Given the description of an element on the screen output the (x, y) to click on. 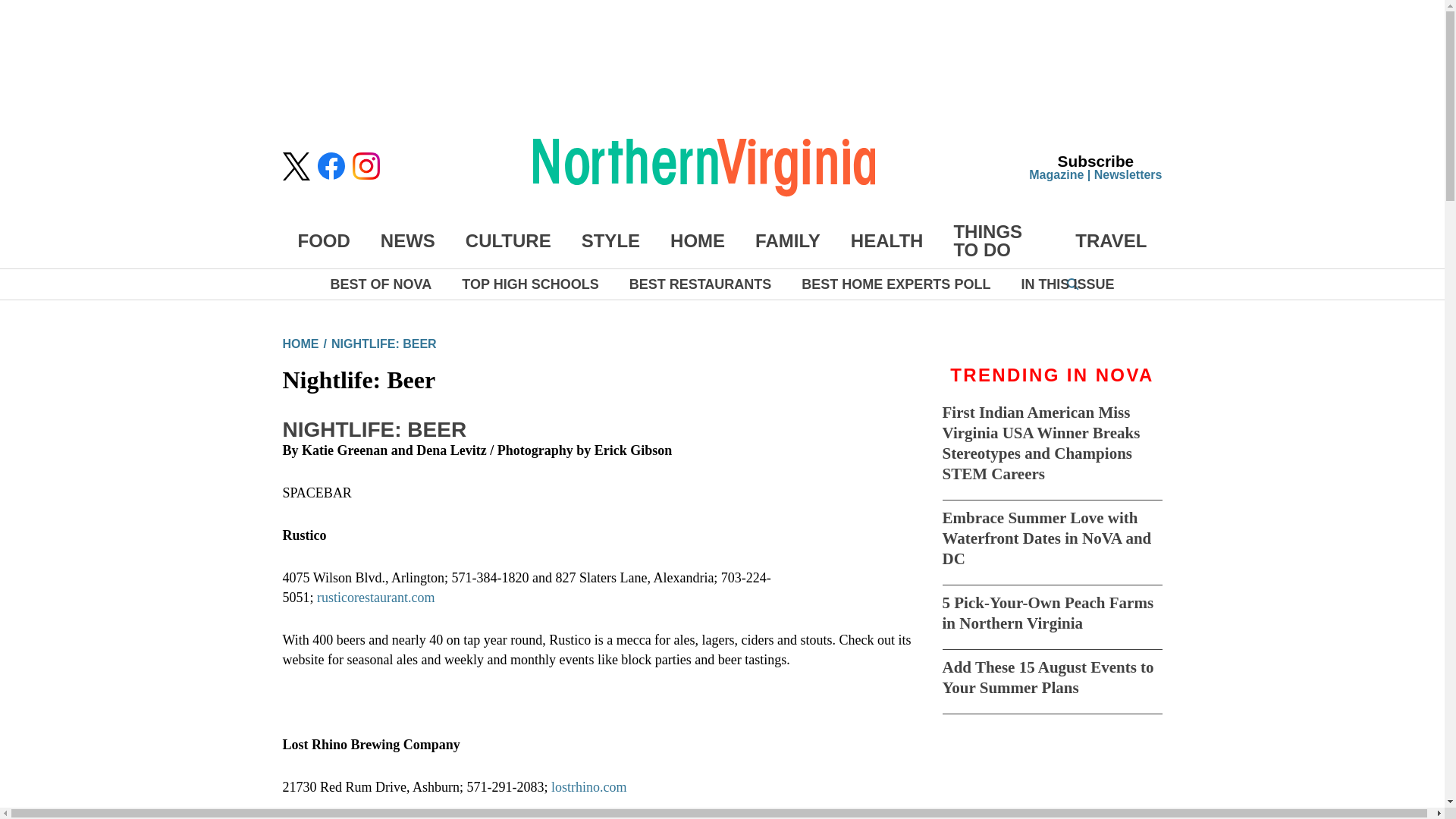
BEST RESTAURANTS (699, 283)
5 Pick-Your-Own Peach Farms in Northern Virginia (1047, 612)
TOP HIGH SCHOOLS (529, 283)
Embrace Summer Love with Waterfront Dates in NoVA and DC (1046, 538)
FAMILY (788, 240)
Newsletters (1127, 174)
THINGS TO DO (987, 240)
3rd party ad content (1052, 789)
lostrhino.com (589, 786)
FOOD (323, 240)
HEALTH (886, 240)
STYLE (610, 240)
NEWS (407, 240)
rusticorestaurant.com (375, 597)
